Given the description of an element on the screen output the (x, y) to click on. 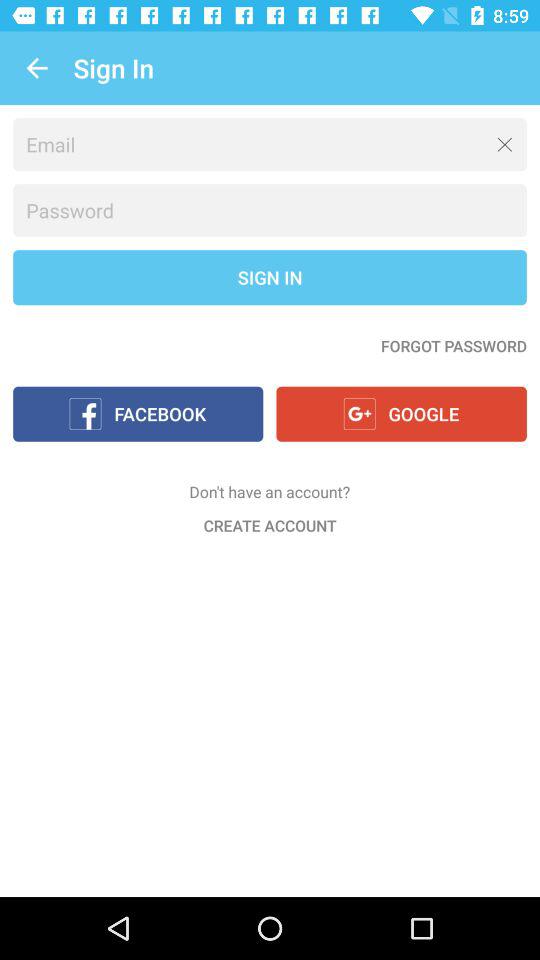
launch the icon to the left of the sign in (36, 68)
